Given the description of an element on the screen output the (x, y) to click on. 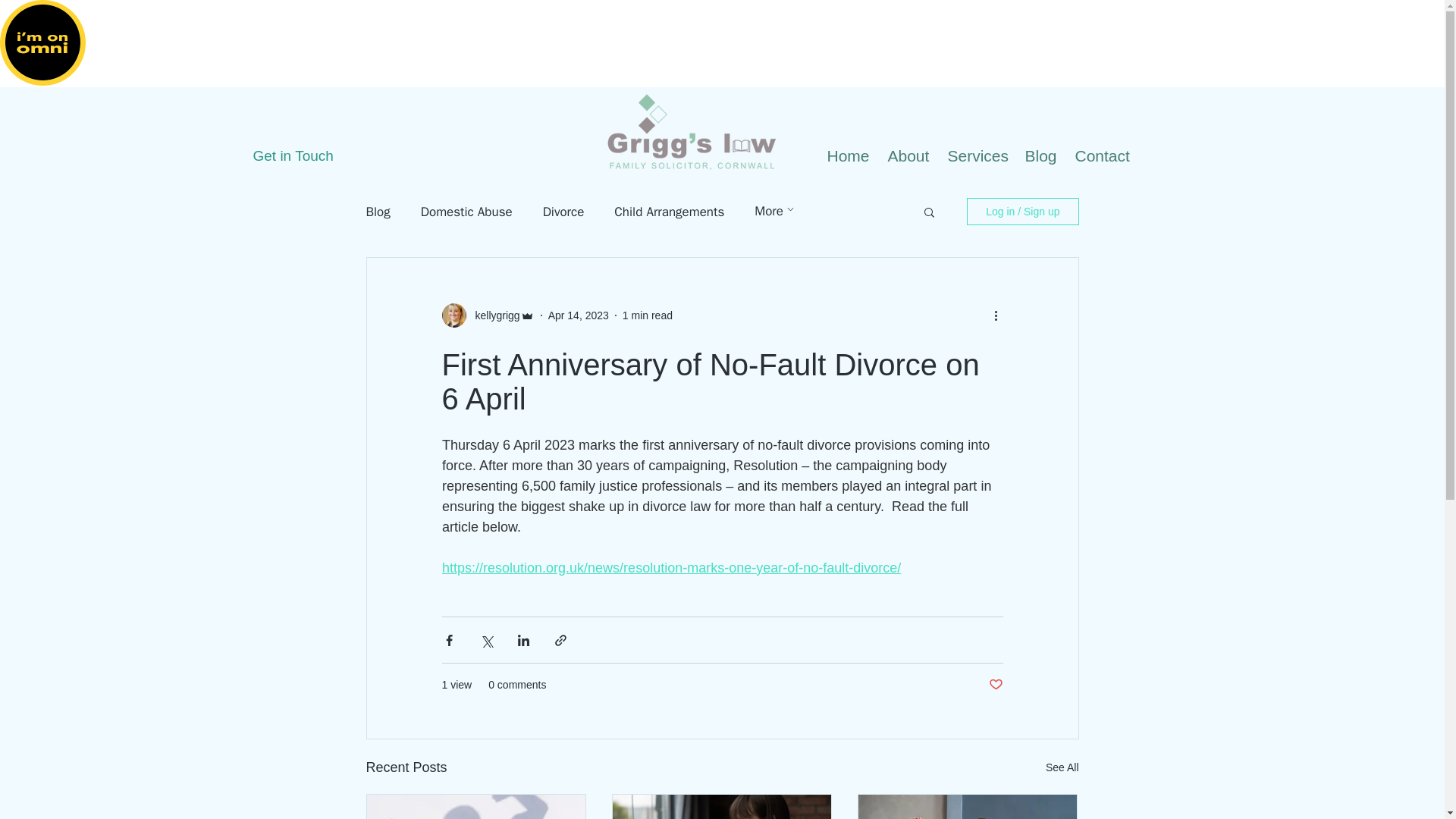
Domestic Abuse (466, 211)
About (909, 156)
Blog (377, 211)
Child Arrangements (668, 211)
Get in Touch (304, 156)
Blog (1042, 156)
Post not marked as liked (995, 684)
kellygrigg (492, 315)
1 min read (647, 315)
Home (848, 156)
